Given the description of an element on the screen output the (x, y) to click on. 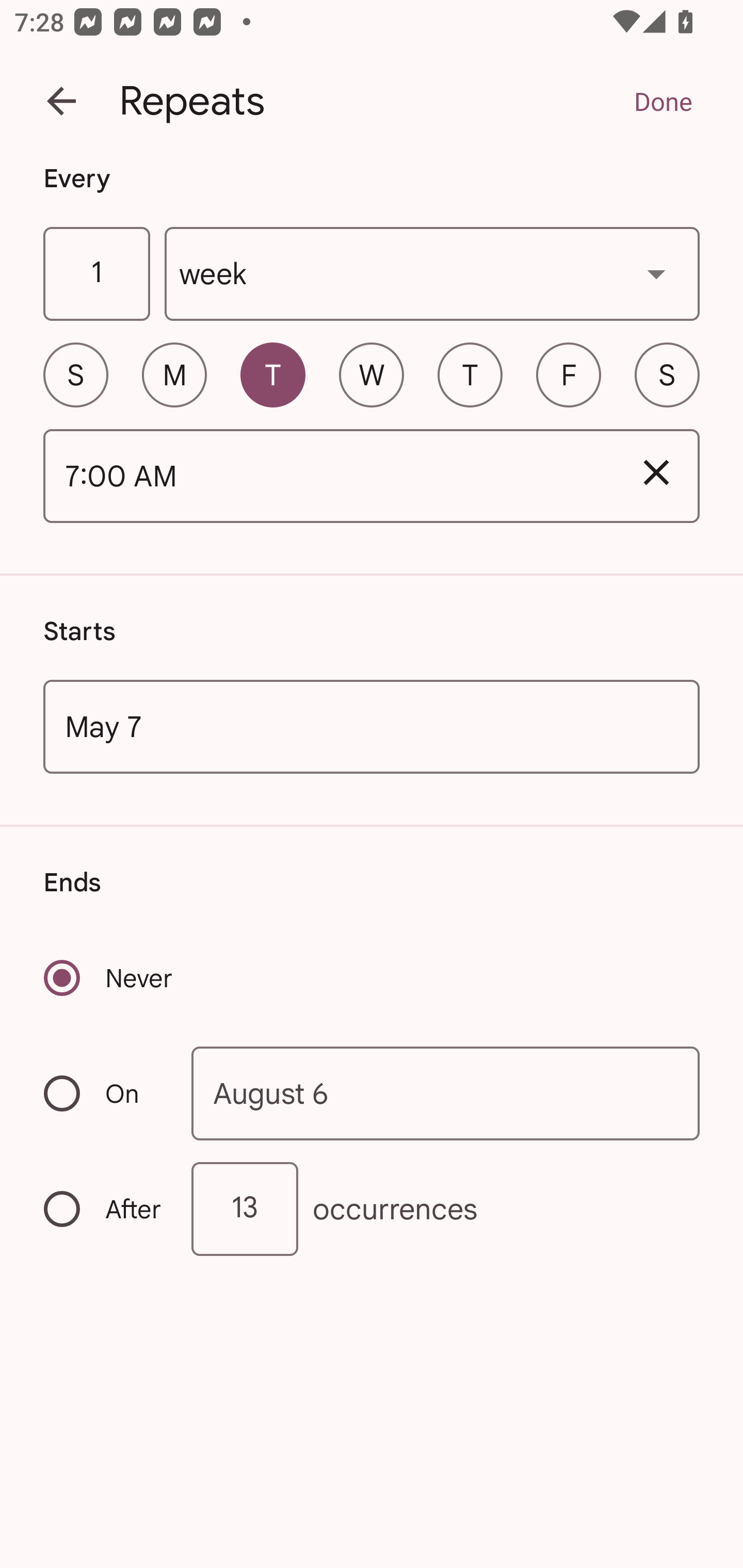
Back (61, 101)
Done (663, 101)
1 (96, 274)
week (431, 274)
Show dropdown menu (655, 273)
S Sunday (75, 374)
M Monday (173, 374)
T Tuesday, selected (272, 374)
W Wednesday (371, 374)
T Thursday (469, 374)
F Friday (568, 374)
S Saturday (666, 374)
7:00 AM (327, 476)
Remove 7:00 AM (655, 472)
May 7 (371, 726)
Never Recurrence never ends (109, 978)
August 6 (445, 1092)
On Recurrence ends on a specific date (104, 1093)
13 (244, 1208)
